Given the description of an element on the screen output the (x, y) to click on. 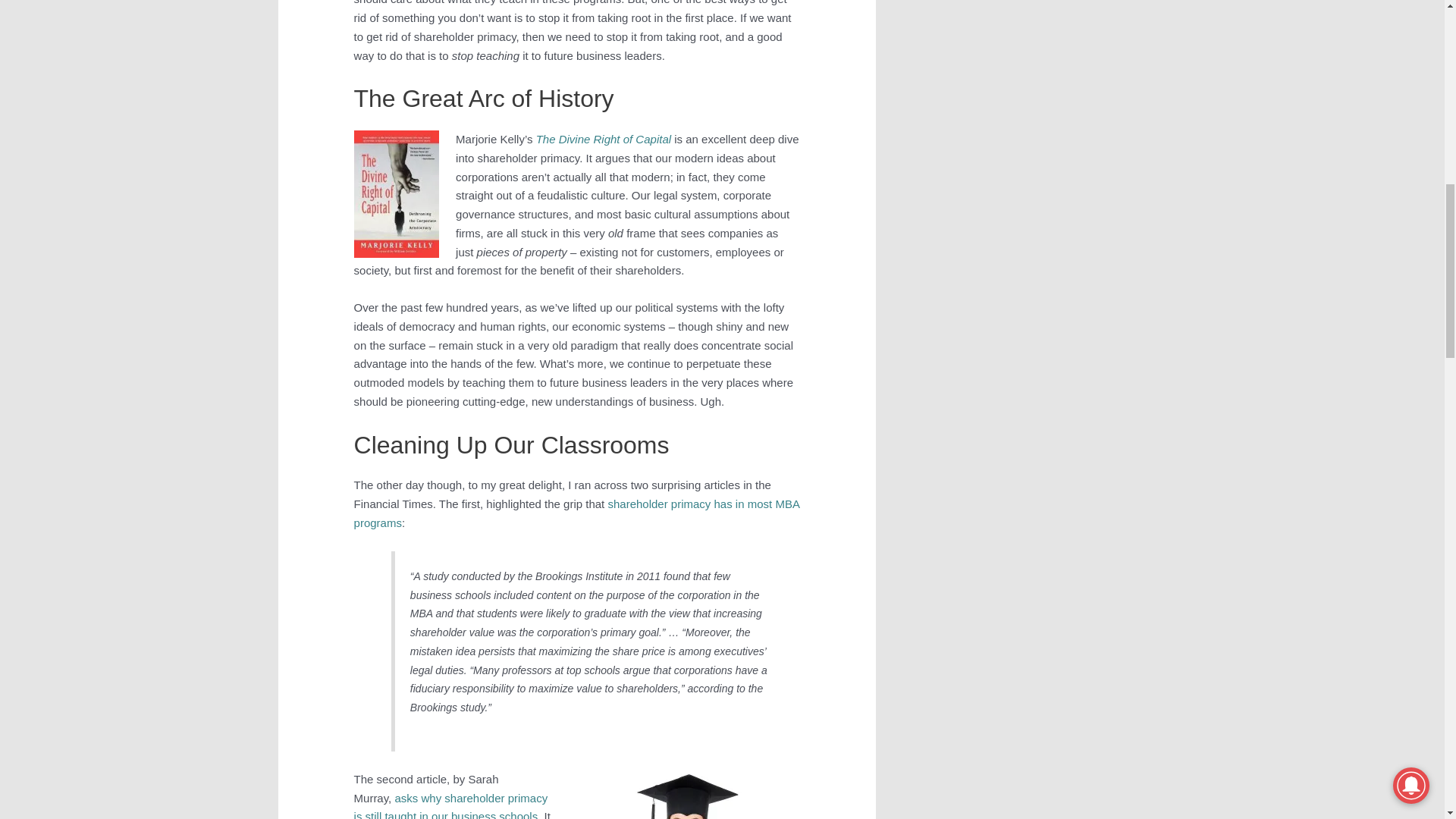
shareholder primacy has in most MBA programs (576, 513)
The Divine Right of Capital (603, 138)
The Divine Right of Capital by Marjorie Kelly (603, 138)
